Given the description of an element on the screen output the (x, y) to click on. 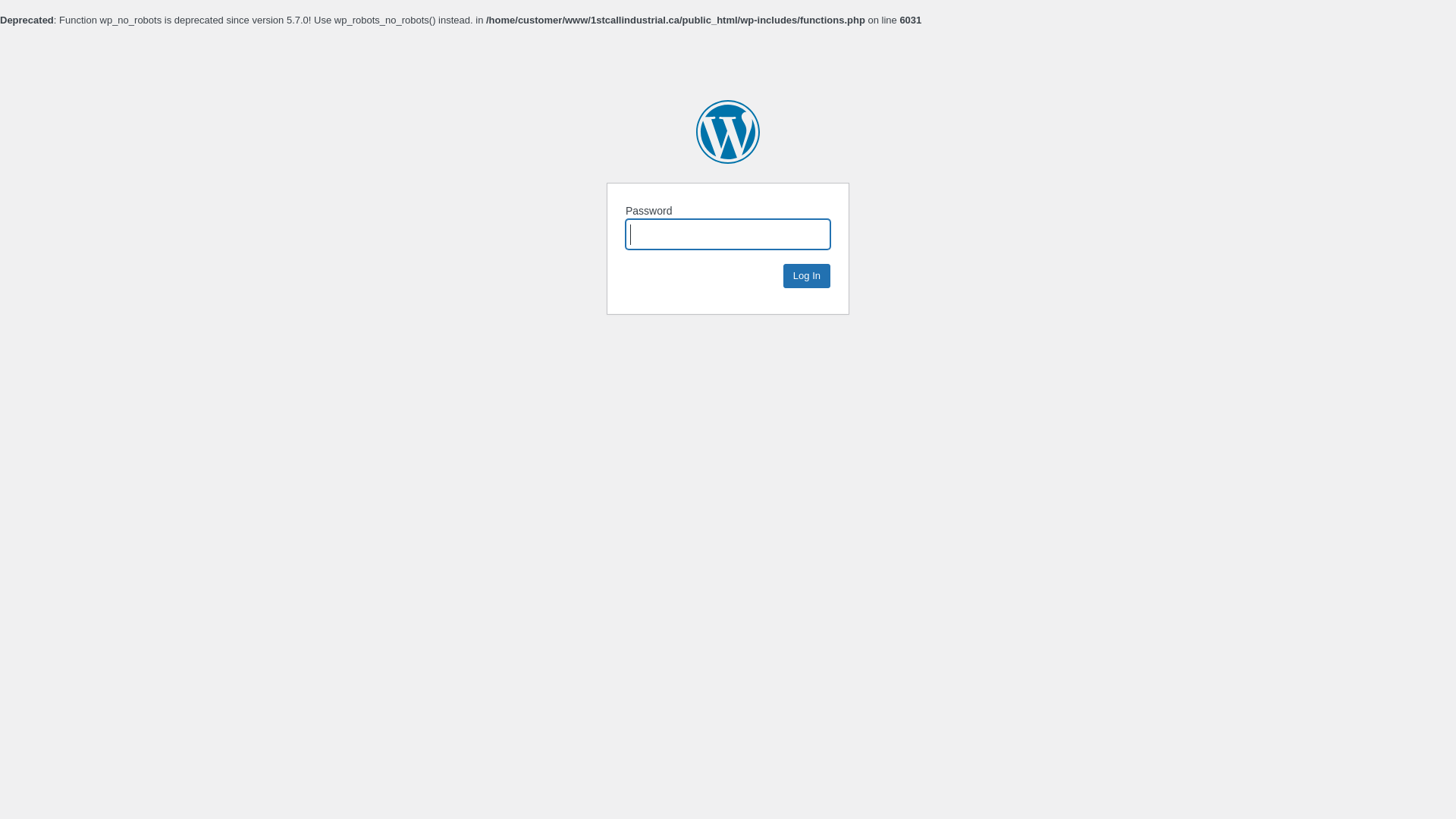
Log In Element type: text (806, 275)
1st Call Industrial Ltd. Element type: text (727, 131)
